Given the description of an element on the screen output the (x, y) to click on. 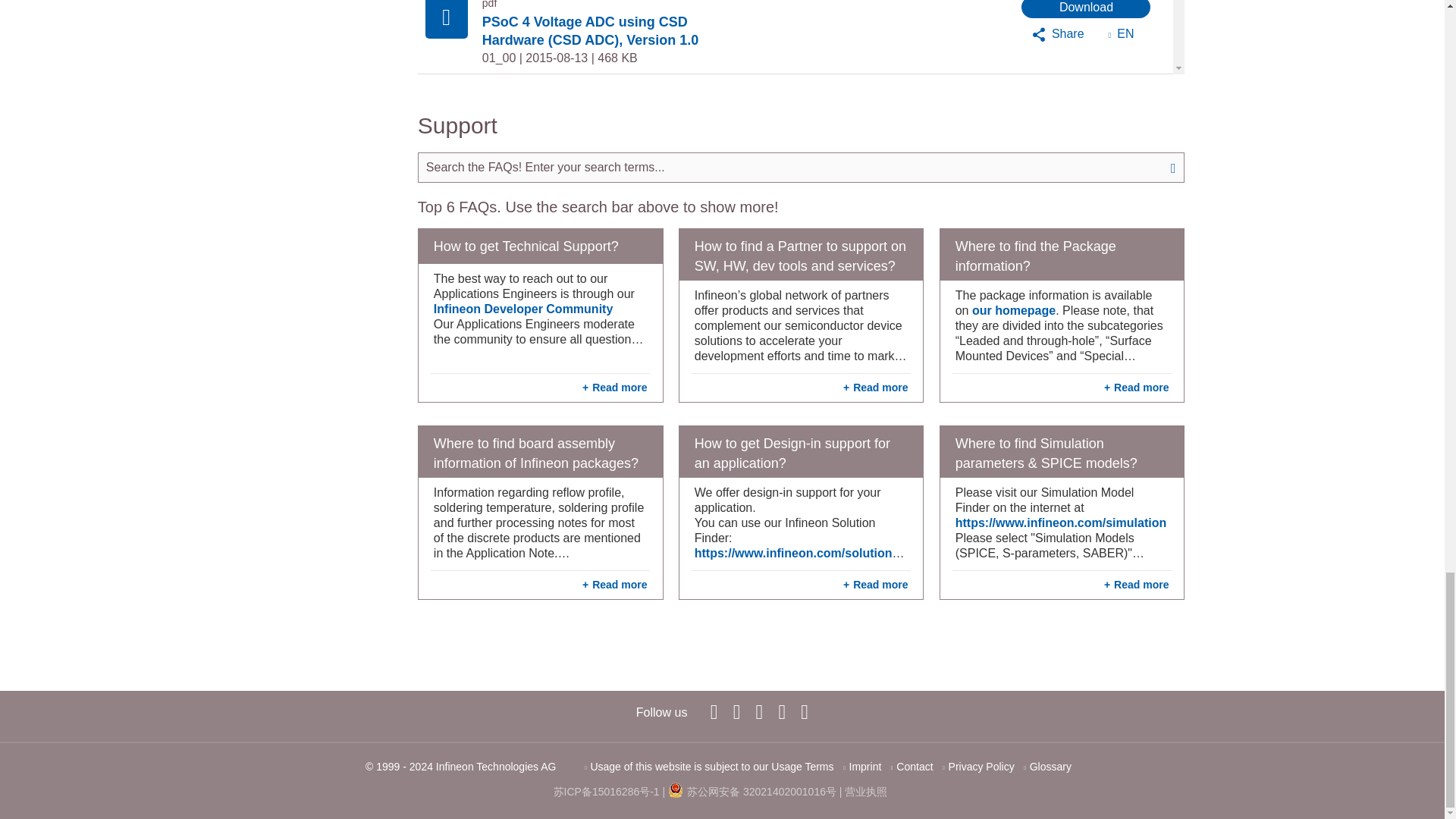
How to get Technical Support? (540, 246)
Where to find the Package information? (1062, 254)
